Given the description of an element on the screen output the (x, y) to click on. 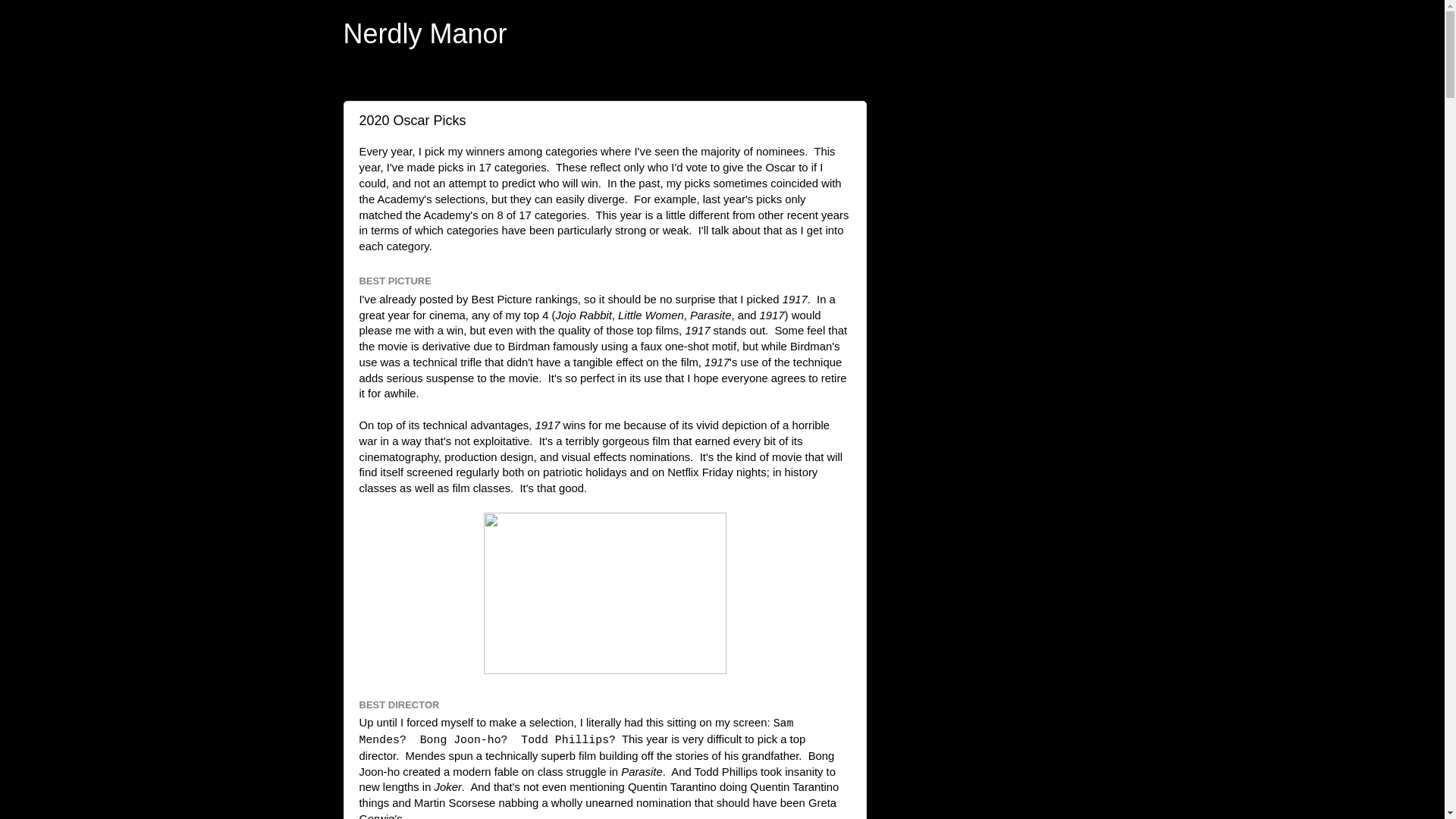
Nerdly Manor (424, 33)
